Given the description of an element on the screen output the (x, y) to click on. 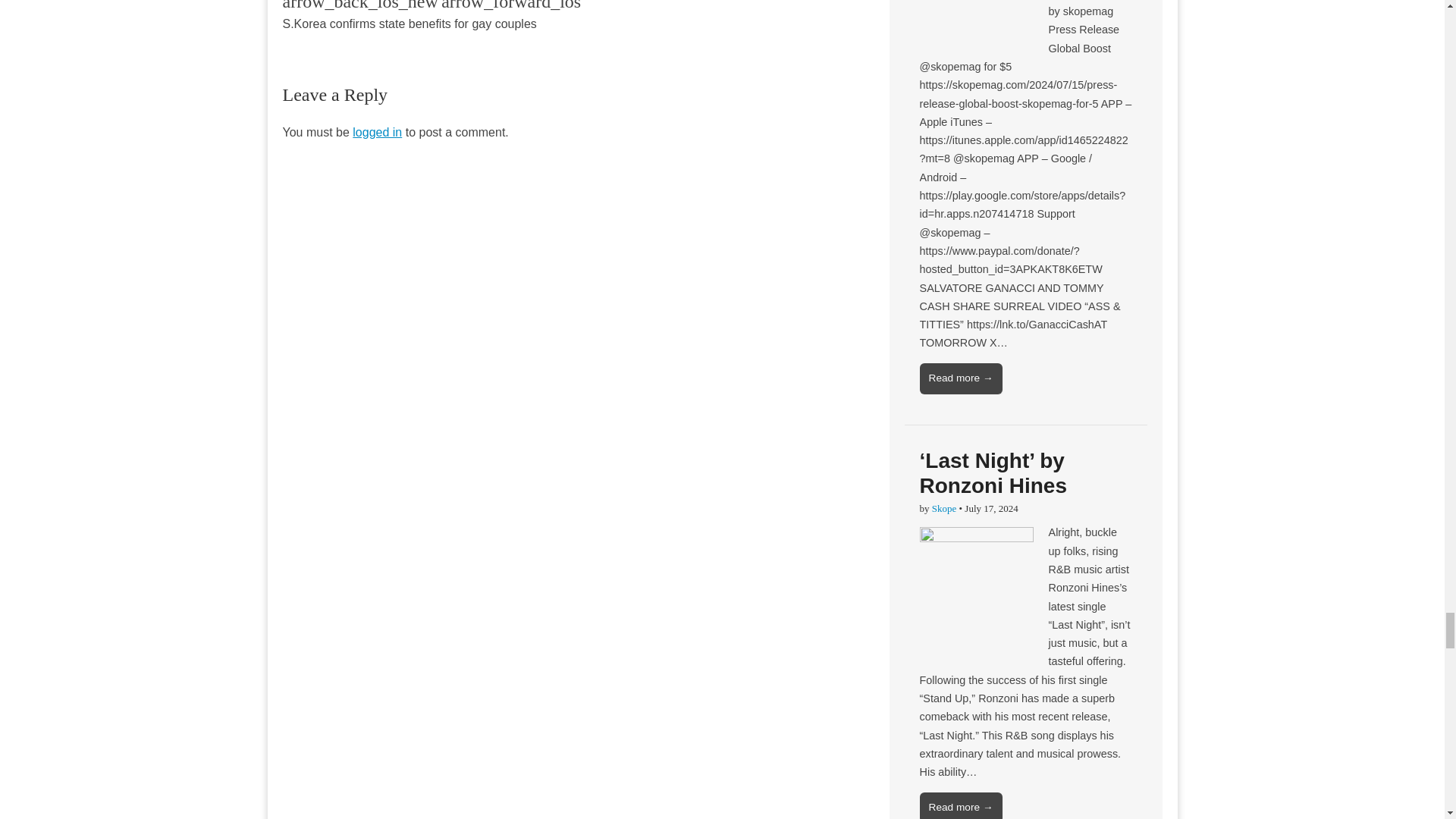
logged in (376, 132)
